Given the description of an element on the screen output the (x, y) to click on. 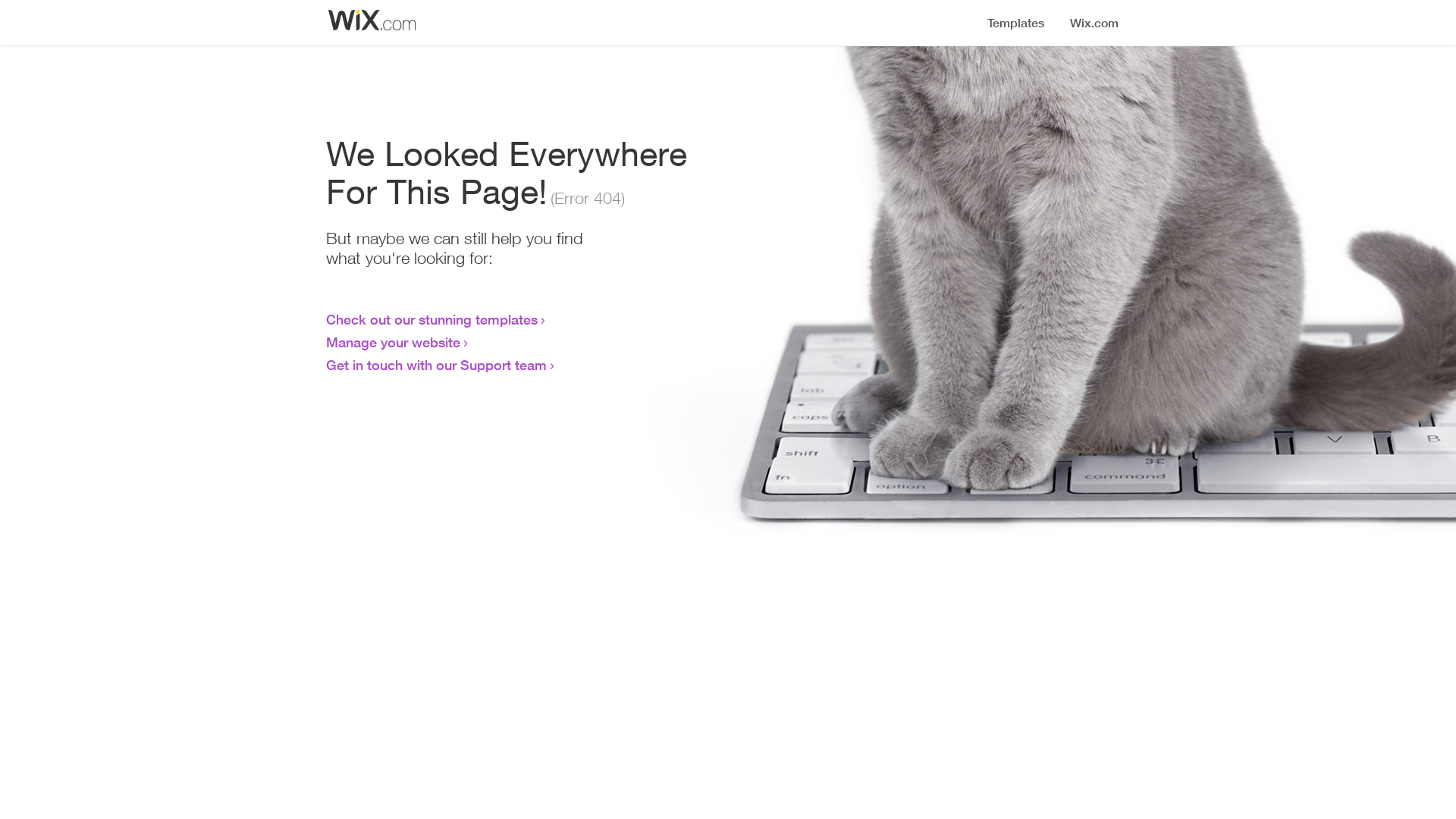
Get in touch with our Support team Element type: text (436, 364)
Check out our stunning templates Element type: text (431, 318)
Manage your website Element type: text (393, 341)
